Given the description of an element on the screen output the (x, y) to click on. 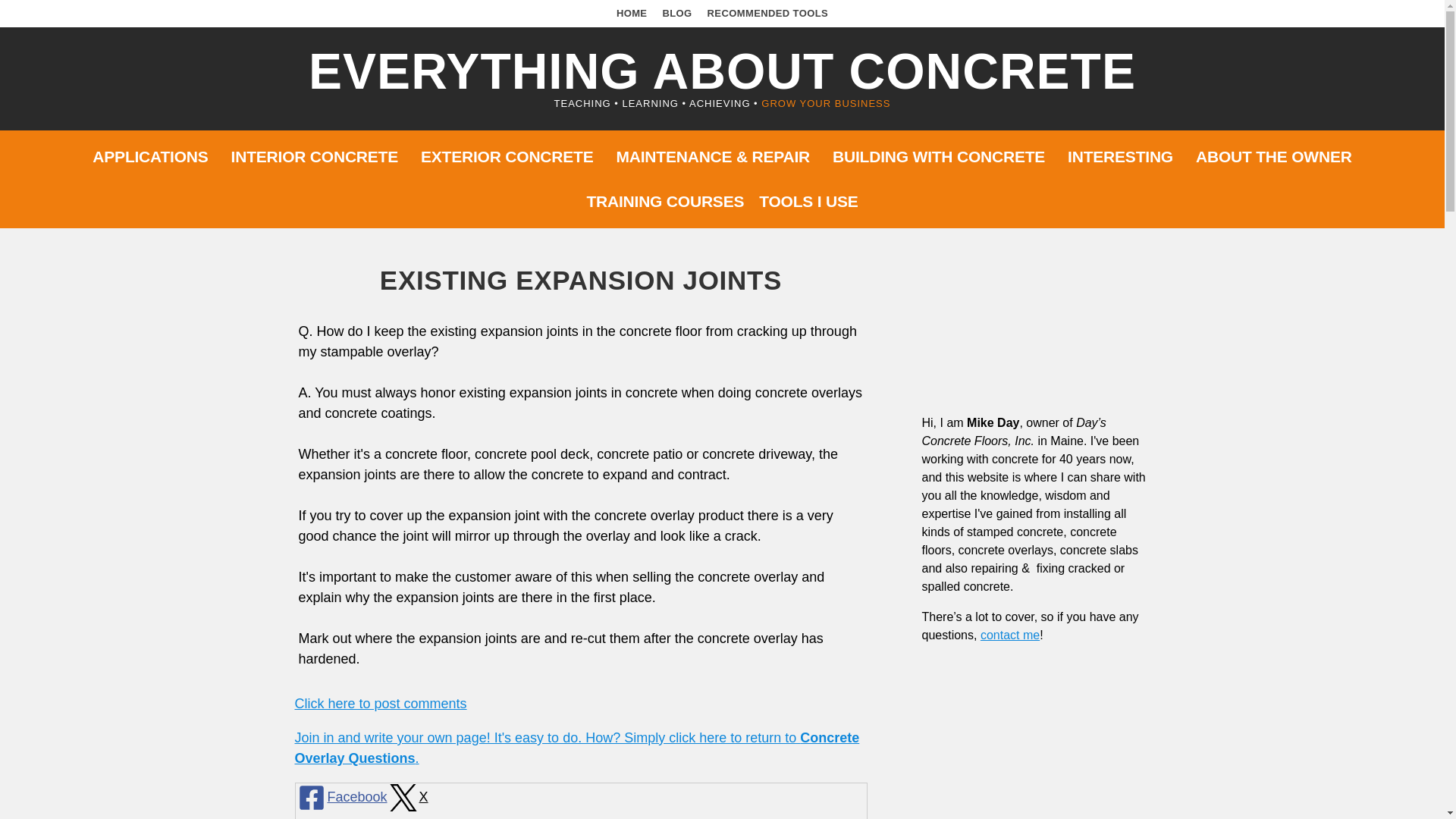
EVERYTHING ABOUT CONCRETE (721, 71)
RECOMMENDED TOOLS (767, 12)
HOME (631, 12)
Qrcode (1035, 737)
BLOG (676, 12)
Mike Day Concrete (1035, 332)
